Given the description of an element on the screen output the (x, y) to click on. 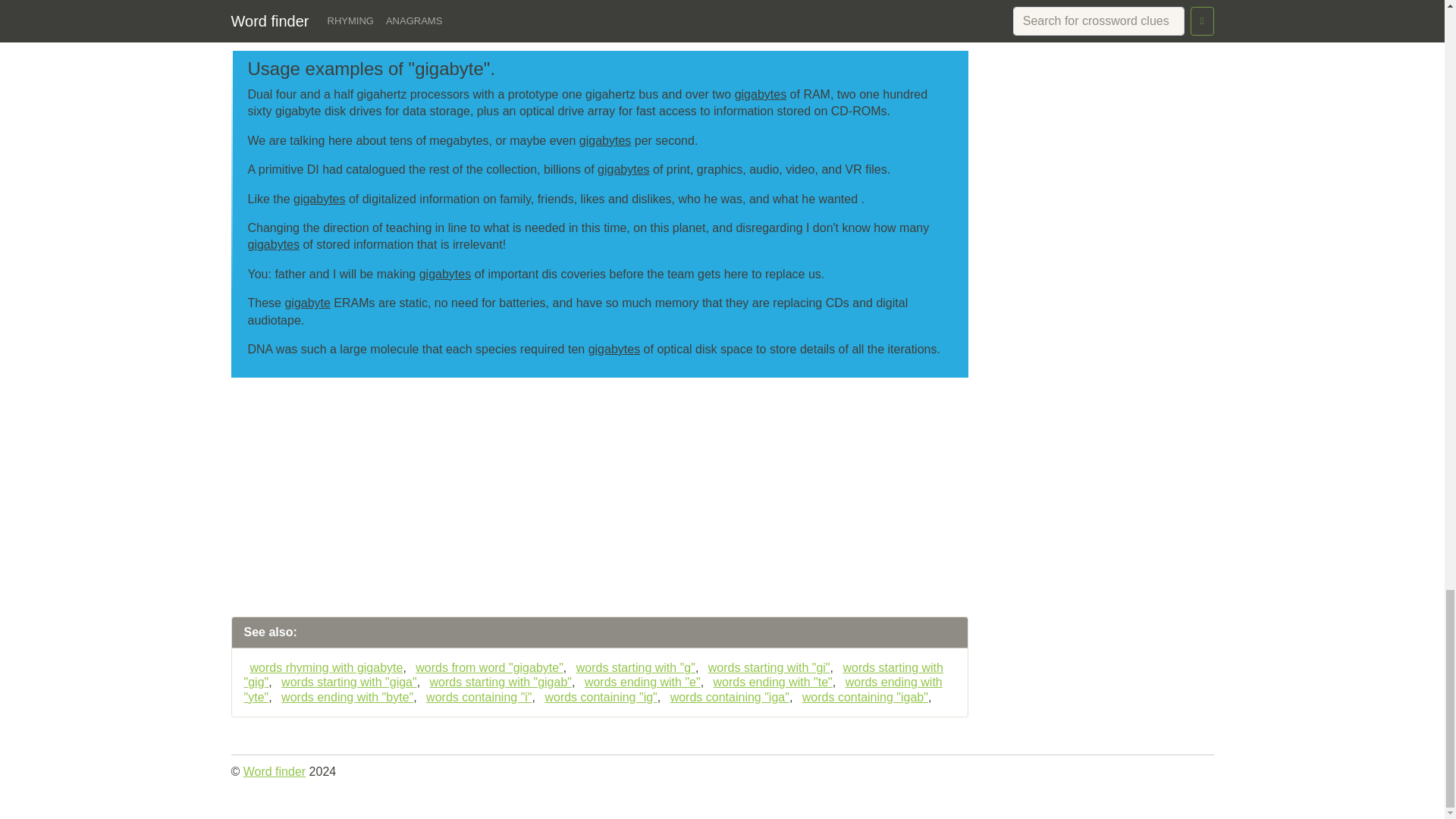
words starting with "gi" (765, 667)
words ending with "yte" (593, 688)
words rhyming with gigabyte (323, 667)
words starting with "gig" (593, 674)
words from word "gigabyte" (486, 667)
words ending with "te" (769, 681)
words ending with "e" (639, 681)
words starting with "giga" (345, 681)
words starting with "g" (632, 667)
words containing "i" (475, 697)
words ending with "byte" (344, 697)
words containing "iga" (726, 697)
words containing "ig" (597, 697)
proof-of-concept (831, 4)
words containing "igab" (862, 697)
